Given the description of an element on the screen output the (x, y) to click on. 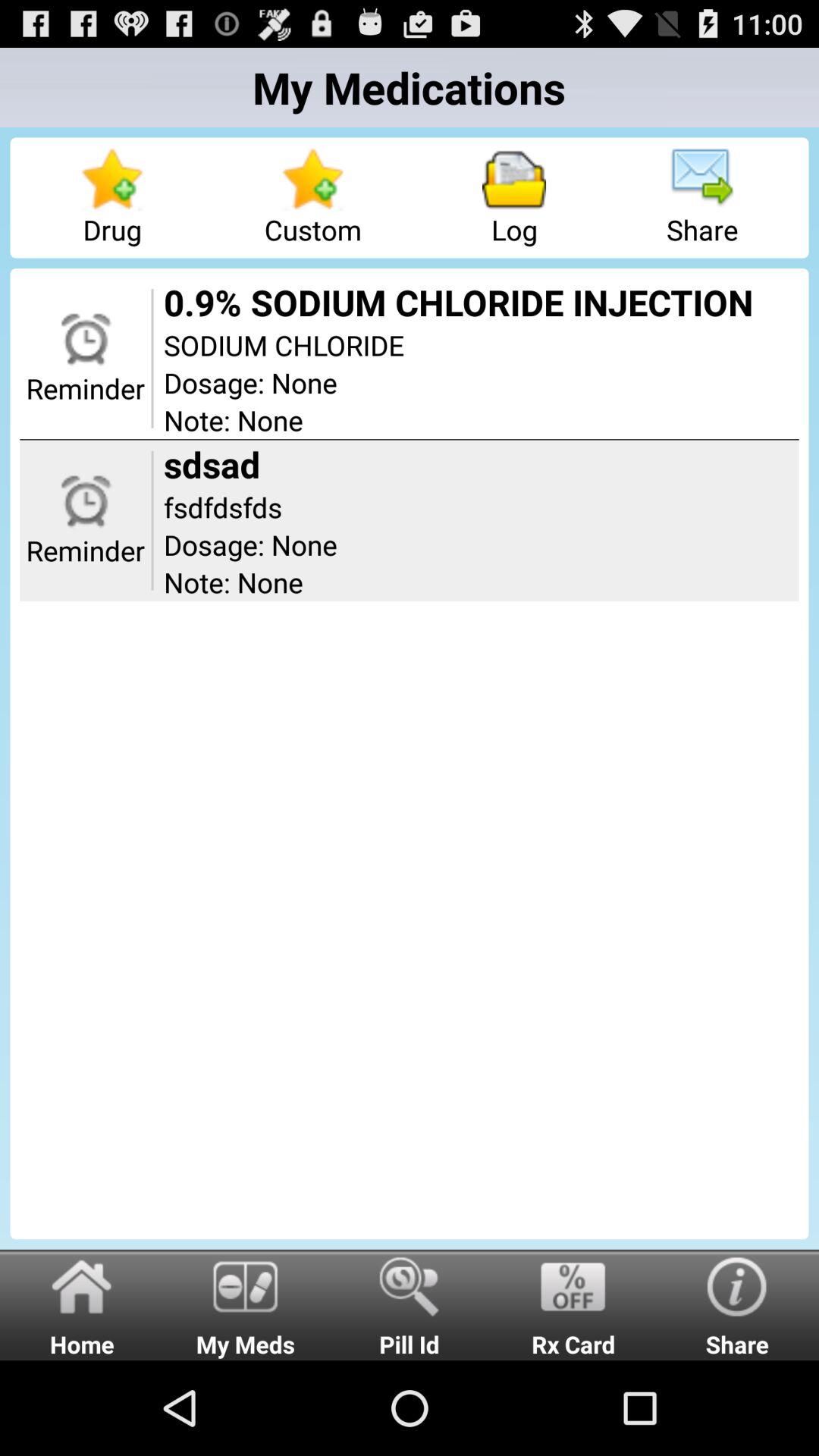
open item below note: none icon (245, 1304)
